Given the description of an element on the screen output the (x, y) to click on. 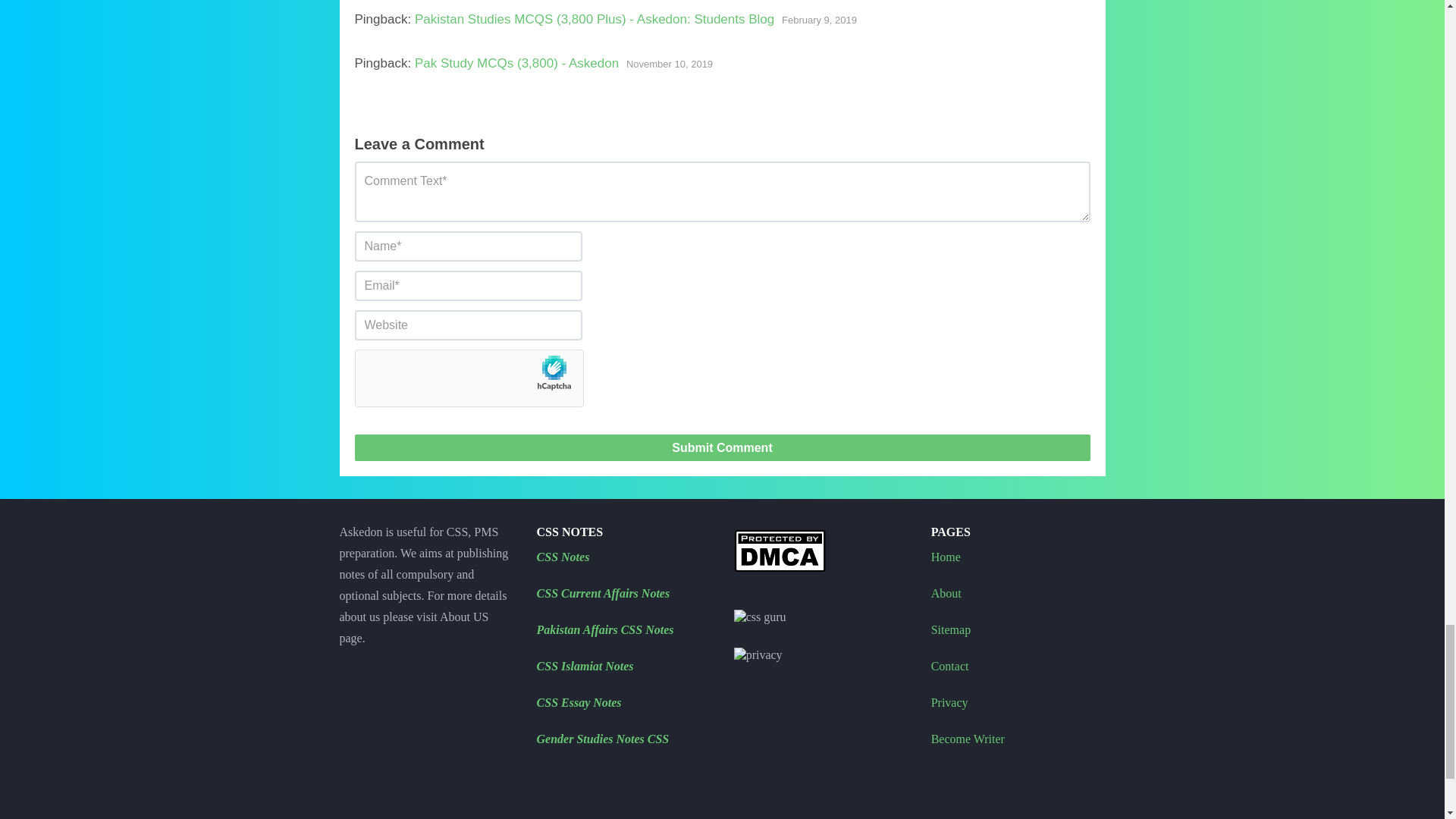
Submit Comment (722, 447)
